Given the description of an element on the screen output the (x, y) to click on. 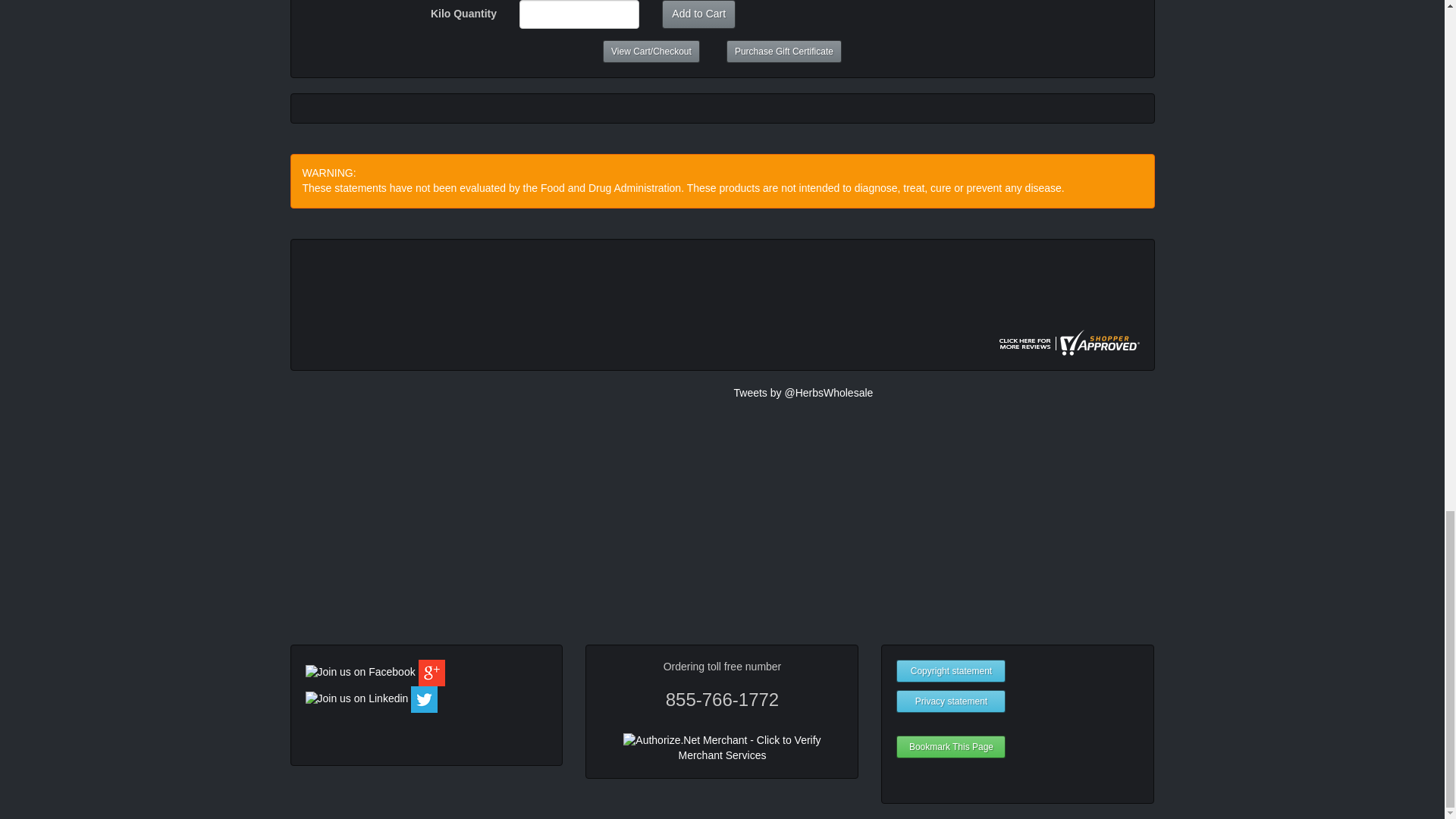
Purchase Gift Certificate (783, 51)
Merchant Services (721, 755)
Copyright statement (951, 671)
Bookmark This Page (951, 746)
Add to Cart (698, 14)
Add to Cart (698, 14)
Bookmark This Page (951, 746)
Privacy statement (951, 701)
